Given the description of an element on the screen output the (x, y) to click on. 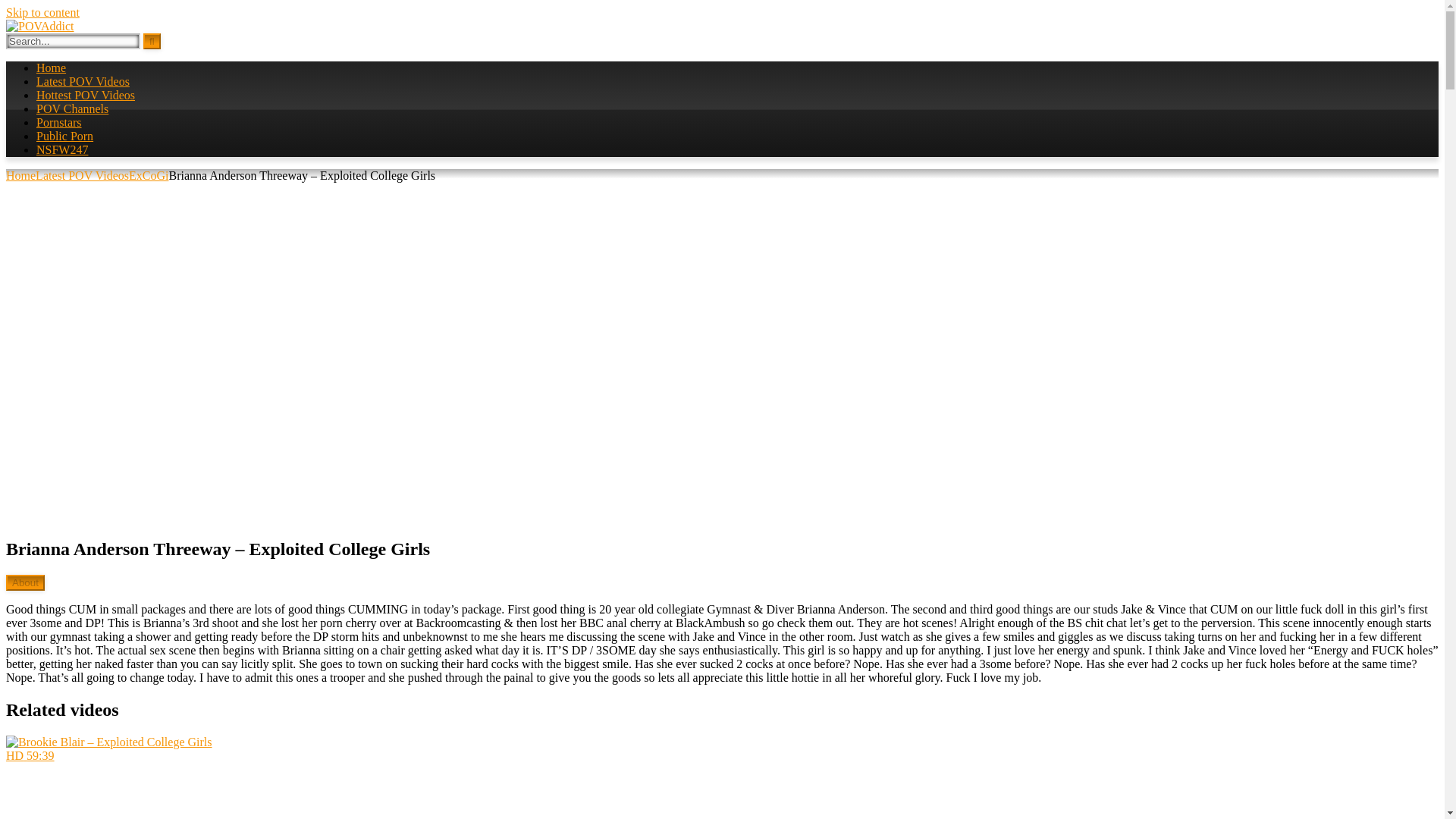
Skip to content (42, 11)
Hottest POV Videos (85, 94)
Latest POV Videos (81, 174)
POV Channels (71, 108)
Search... (72, 41)
NSFW247 (61, 149)
Home (19, 174)
About (25, 582)
Pornstars (58, 122)
Public Porn (64, 135)
POVAddict (39, 25)
Latest POV Videos (82, 81)
Home (50, 67)
ExCoGi (148, 174)
